Given the description of an element on the screen output the (x, y) to click on. 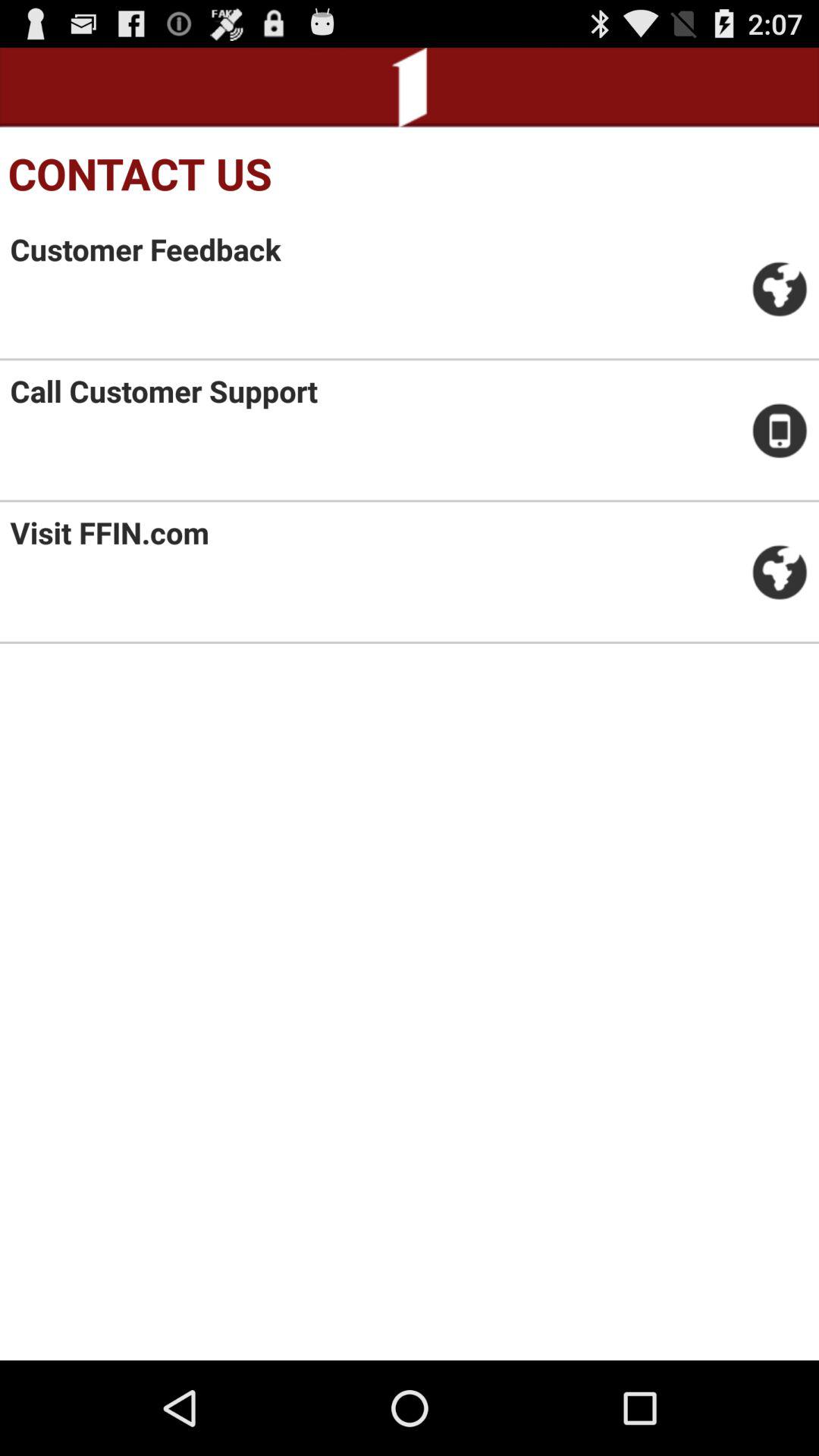
select the visit ffin.com app (109, 532)
